Given the description of an element on the screen output the (x, y) to click on. 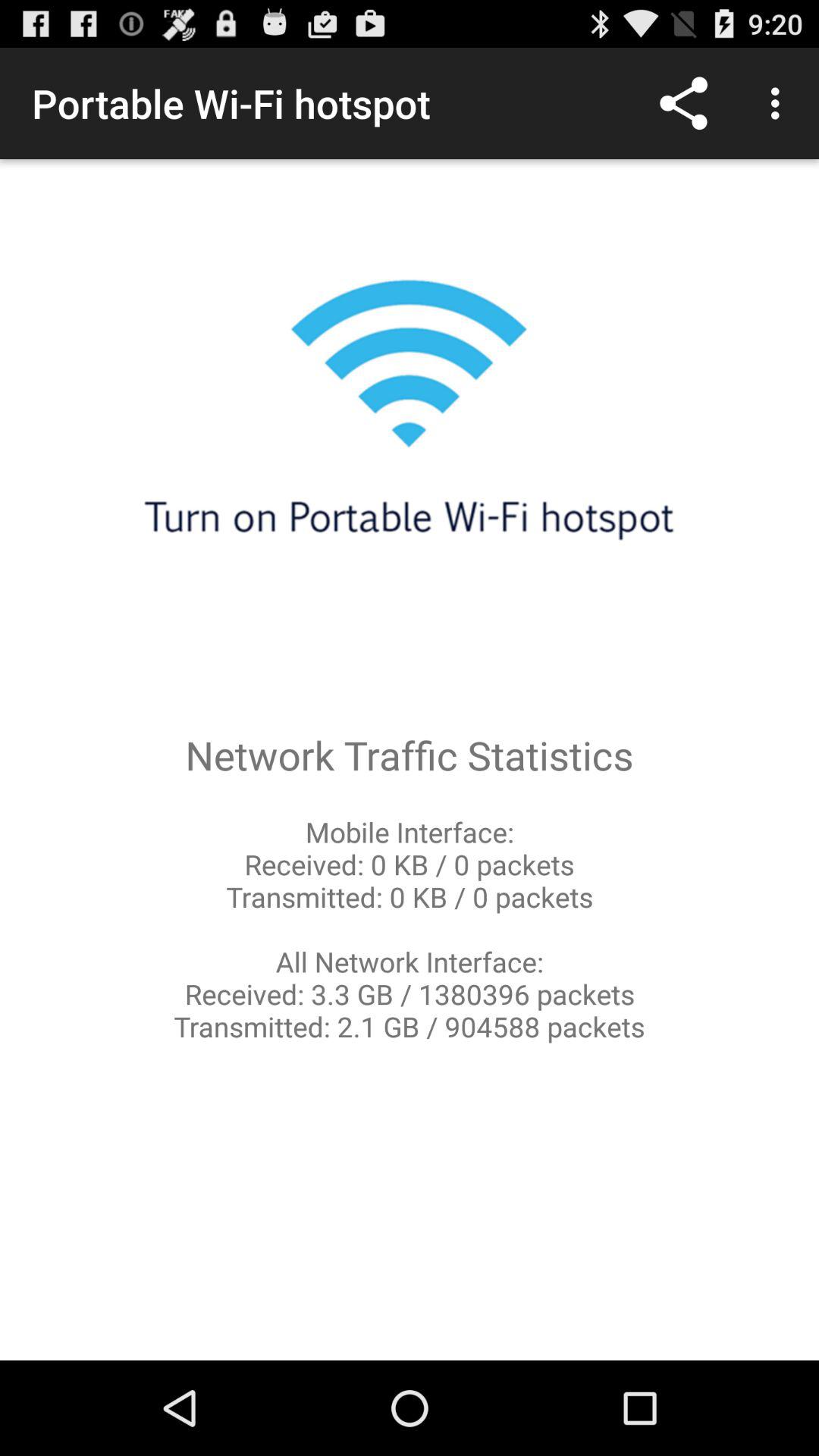
click the item above network traffic statistics item (779, 103)
